Given the description of an element on the screen output the (x, y) to click on. 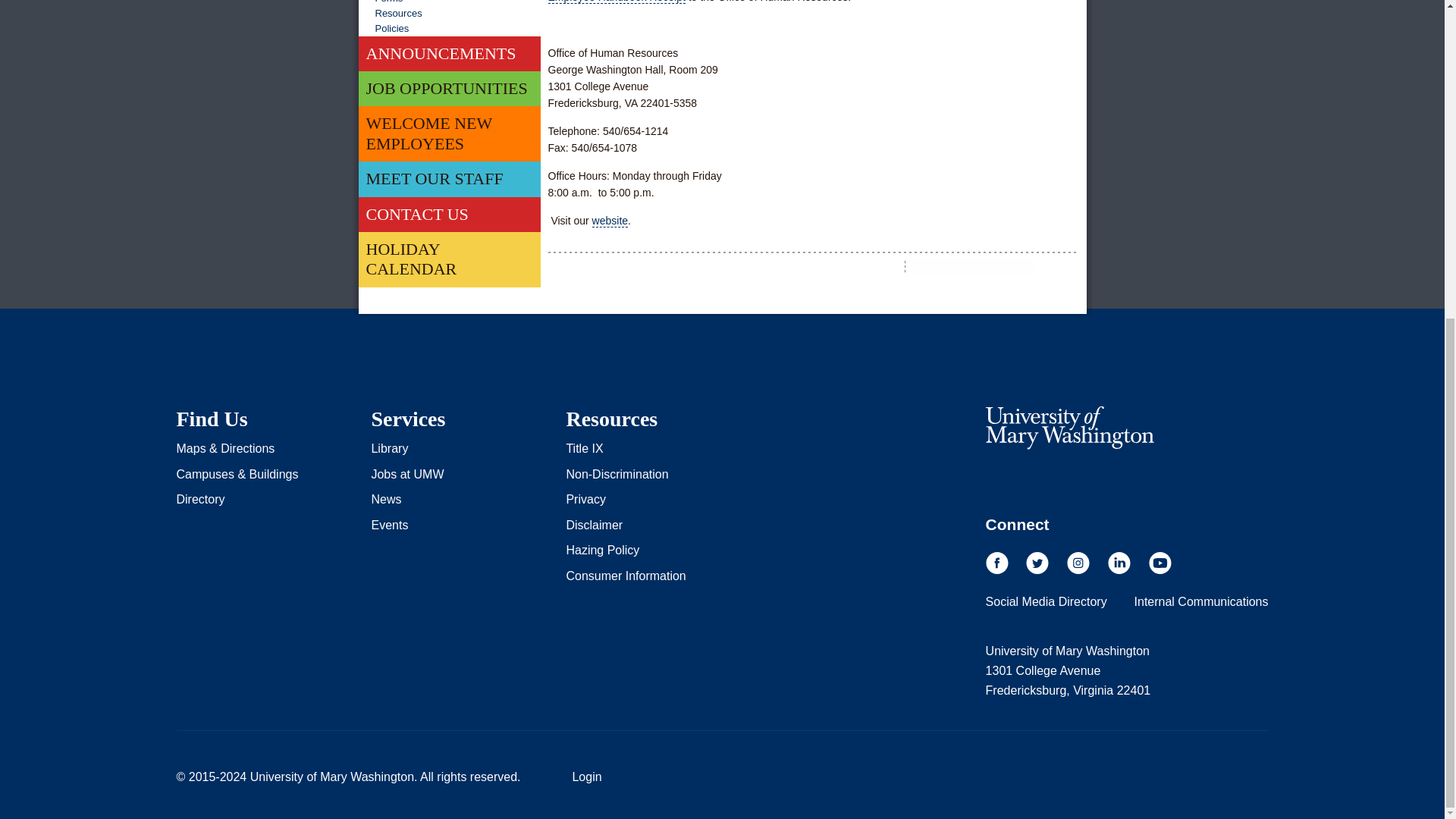
Login to the administration area for Human Resources (586, 776)
University of Mary Washington (1069, 427)
